Given the description of an element on the screen output the (x, y) to click on. 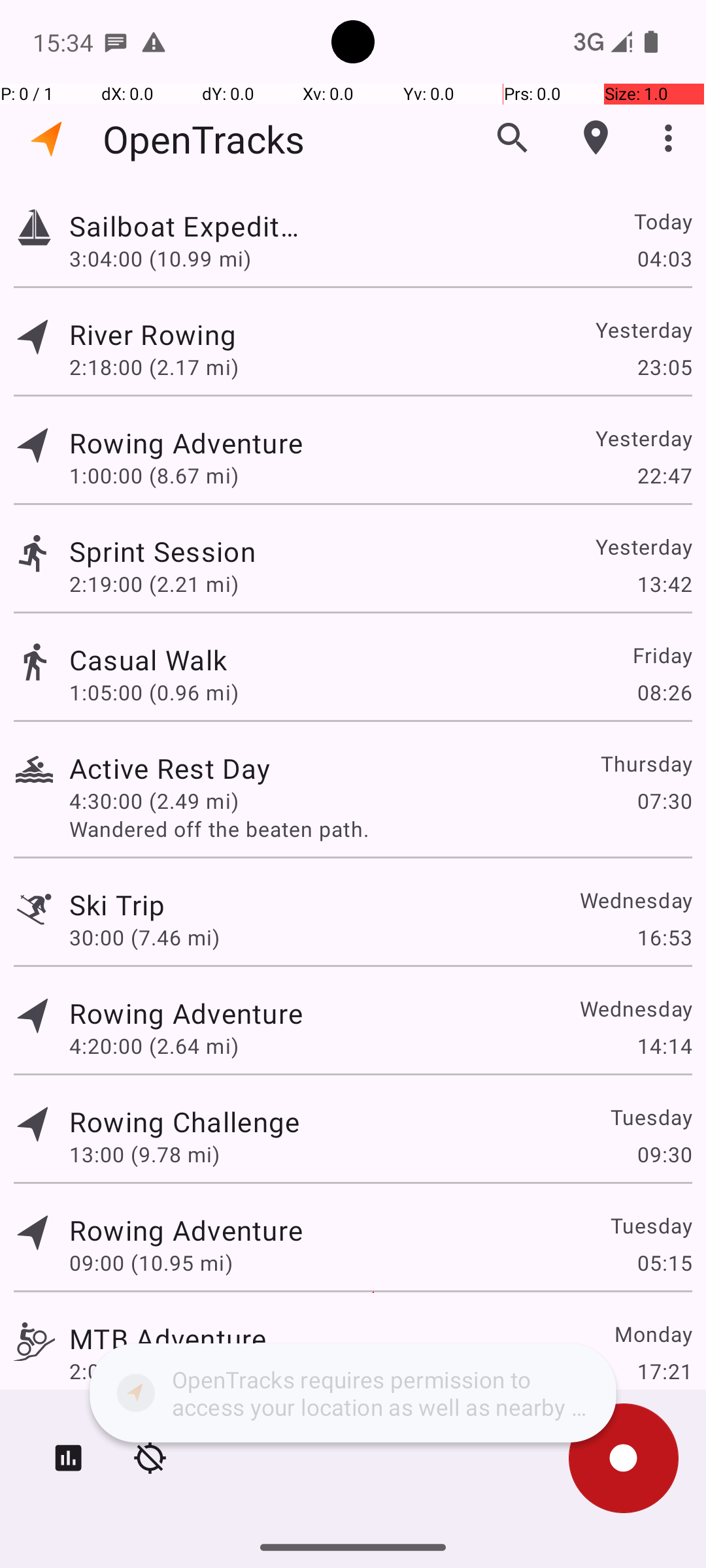
Sailboat Expedition Element type: android.widget.TextView (185, 225)
3:04:00 (10.99 mi) Element type: android.widget.TextView (159, 258)
04:03 Element type: android.widget.TextView (664, 258)
River Rowing Element type: android.widget.TextView (184, 333)
2:18:00 (2.17 mi) Element type: android.widget.TextView (153, 366)
23:05 Element type: android.widget.TextView (664, 366)
Rowing Adventure Element type: android.widget.TextView (185, 442)
1:00:00 (8.67 mi) Element type: android.widget.TextView (153, 475)
22:47 Element type: android.widget.TextView (664, 475)
Sprint Session Element type: android.widget.TextView (167, 550)
2:19:00 (2.21 mi) Element type: android.widget.TextView (153, 583)
13:42 Element type: android.widget.TextView (664, 583)
Casual Walk Element type: android.widget.TextView (151, 659)
1:05:00 (0.96 mi) Element type: android.widget.TextView (153, 692)
08:26 Element type: android.widget.TextView (664, 692)
Active Rest Day Element type: android.widget.TextView (169, 767)
4:30:00 (2.49 mi) Element type: android.widget.TextView (153, 800)
07:30 Element type: android.widget.TextView (664, 800)
Wandered off the beaten path. Element type: android.widget.TextView (380, 828)
Ski Trip Element type: android.widget.TextView (116, 904)
30:00 (7.46 mi) Element type: android.widget.TextView (144, 937)
16:53 Element type: android.widget.TextView (664, 937)
4:20:00 (2.64 mi) Element type: android.widget.TextView (153, 1045)
14:14 Element type: android.widget.TextView (664, 1045)
Rowing Challenge Element type: android.widget.TextView (184, 1121)
13:00 (9.78 mi) Element type: android.widget.TextView (144, 1154)
09:30 Element type: android.widget.TextView (664, 1154)
09:00 (10.95 mi) Element type: android.widget.TextView (150, 1262)
05:15 Element type: android.widget.TextView (664, 1262)
MTB Adventure Element type: android.widget.TextView (167, 1337)
2:04:00 (6.48 mi) Element type: android.widget.TextView (153, 1370)
17:21 Element type: android.widget.TextView (664, 1370)
